Given the description of an element on the screen output the (x, y) to click on. 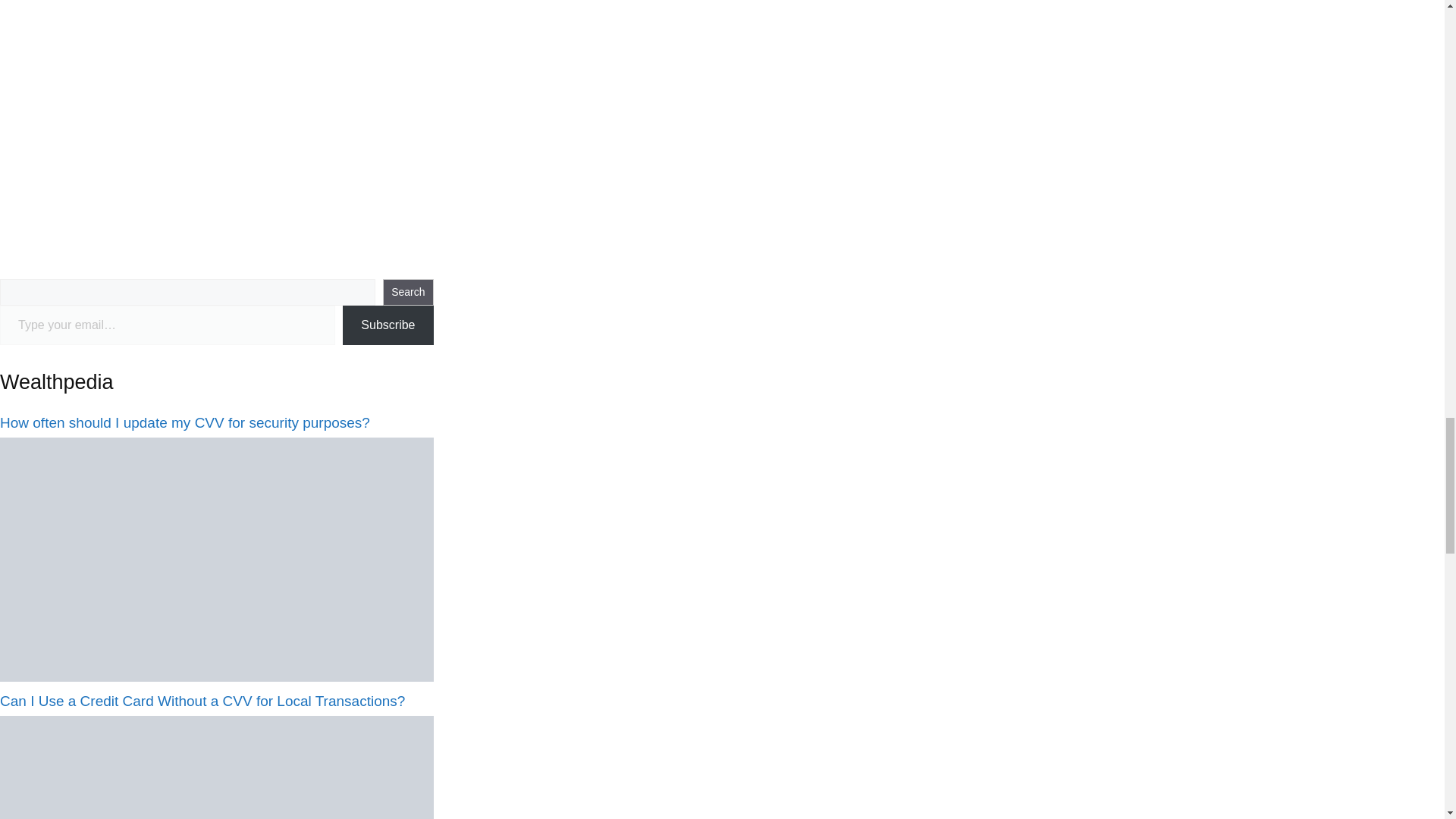
Subscribe (387, 324)
How often should I update my CVV for security purposes? (184, 422)
Search (407, 292)
